Given the description of an element on the screen output the (x, y) to click on. 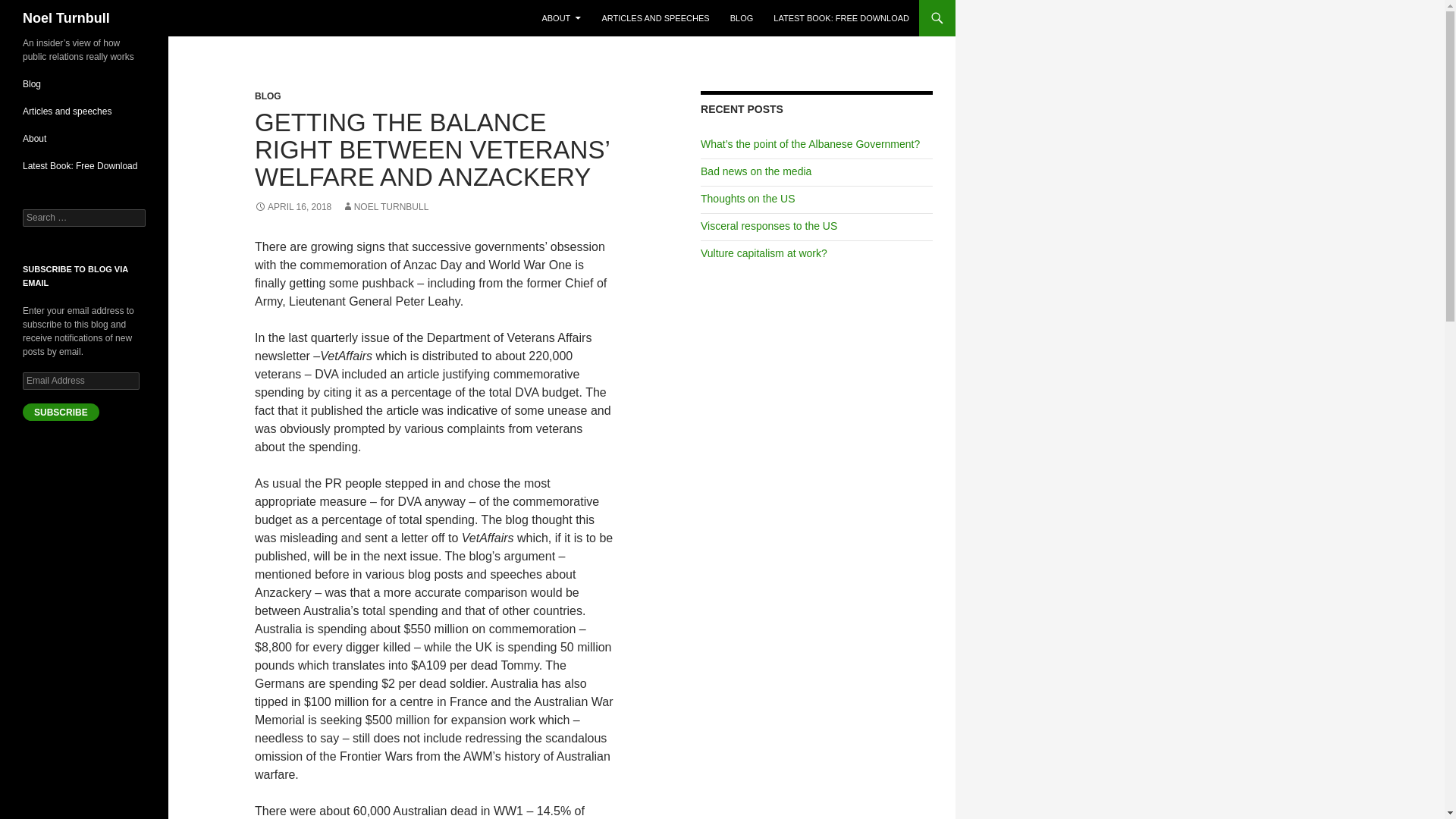
BLOG (267, 95)
Visceral responses to the US (768, 225)
Noel Turnbull (66, 18)
Vulture capitalism at work? (763, 253)
Search (30, 8)
ARTICLES AND SPEECHES (654, 18)
NOEL TURNBULL (385, 206)
Bad news on the media (755, 171)
APRIL 16, 2018 (292, 206)
SUBSCRIBE (61, 411)
Articles and speeches (67, 111)
Blog (31, 83)
BLOG (741, 18)
ABOUT (560, 18)
Latest Book: Free Download (79, 165)
